Given the description of an element on the screen output the (x, y) to click on. 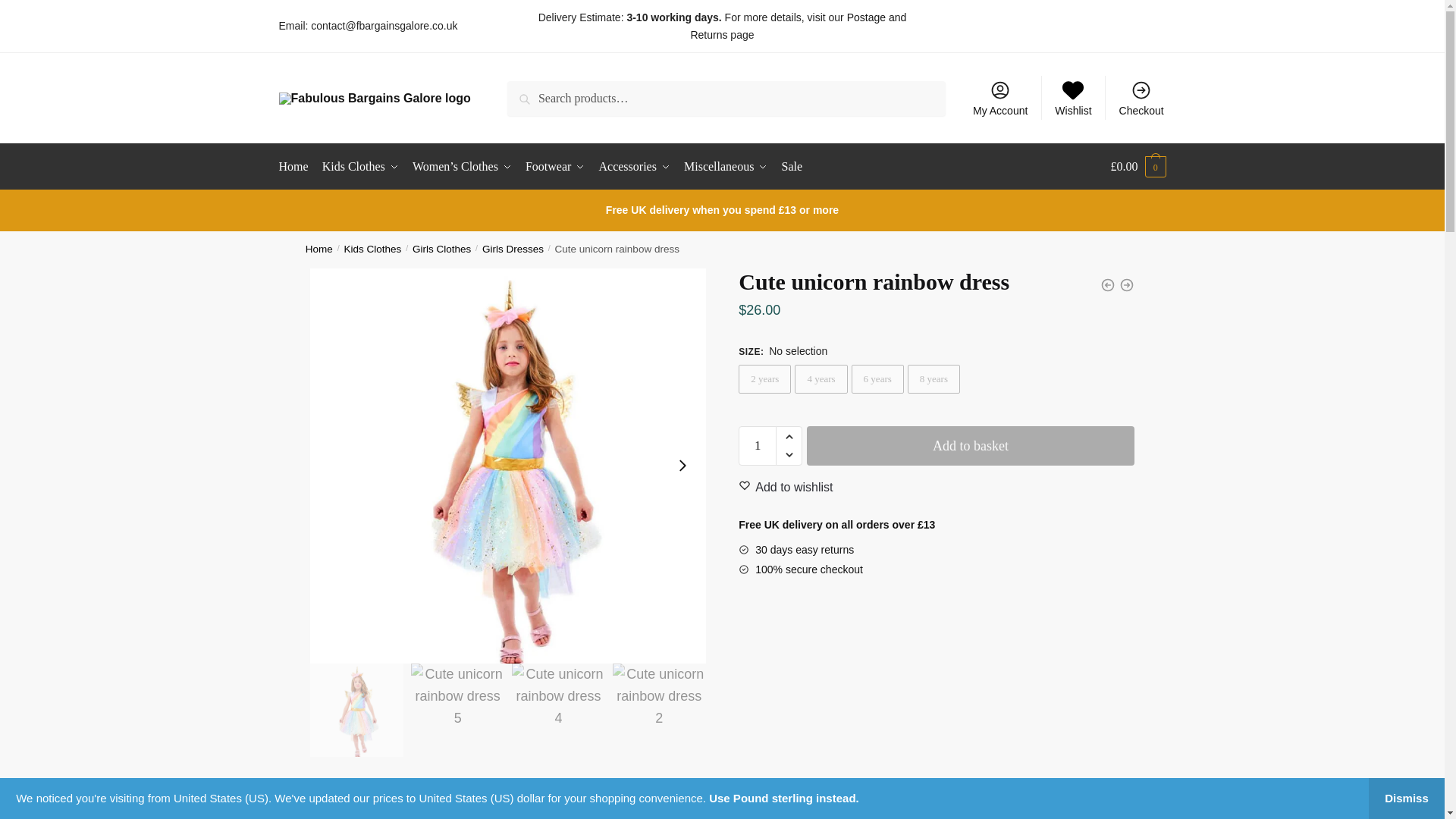
Wishlist (1072, 97)
Postage and Returns (797, 25)
Footwear (554, 166)
Search (528, 91)
Home (297, 166)
Checkout (1141, 97)
1 (757, 445)
View your shopping cart (1137, 166)
Kids Clothes (360, 166)
My Account (999, 97)
